Given the description of an element on the screen output the (x, y) to click on. 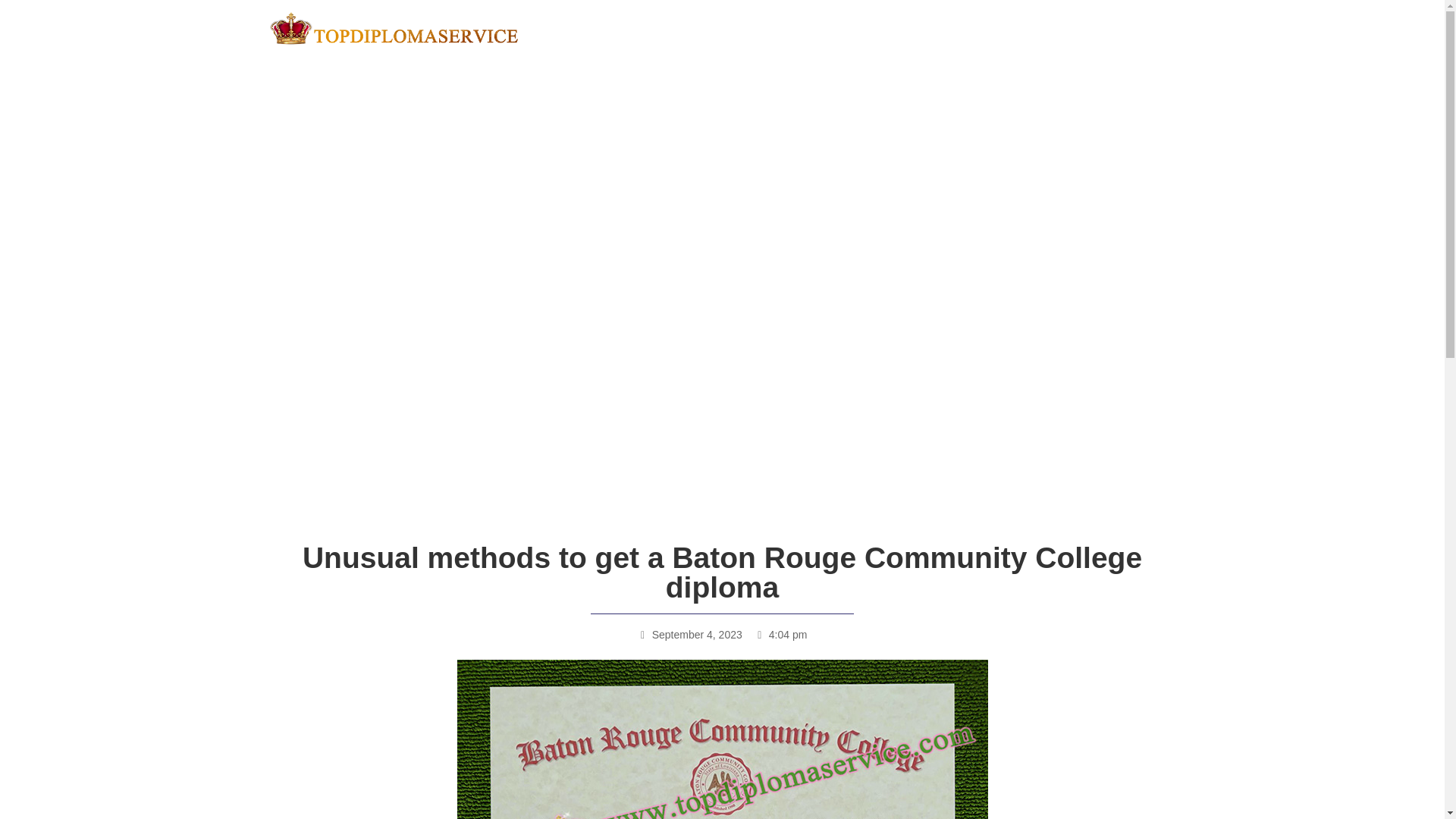
CONTACT US (1114, 28)
ORDER (919, 28)
PRODUCTS (831, 28)
HOME (672, 28)
REVIEWS (742, 28)
September 4, 2023 (689, 634)
BLOG (1031, 28)
